Given the description of an element on the screen output the (x, y) to click on. 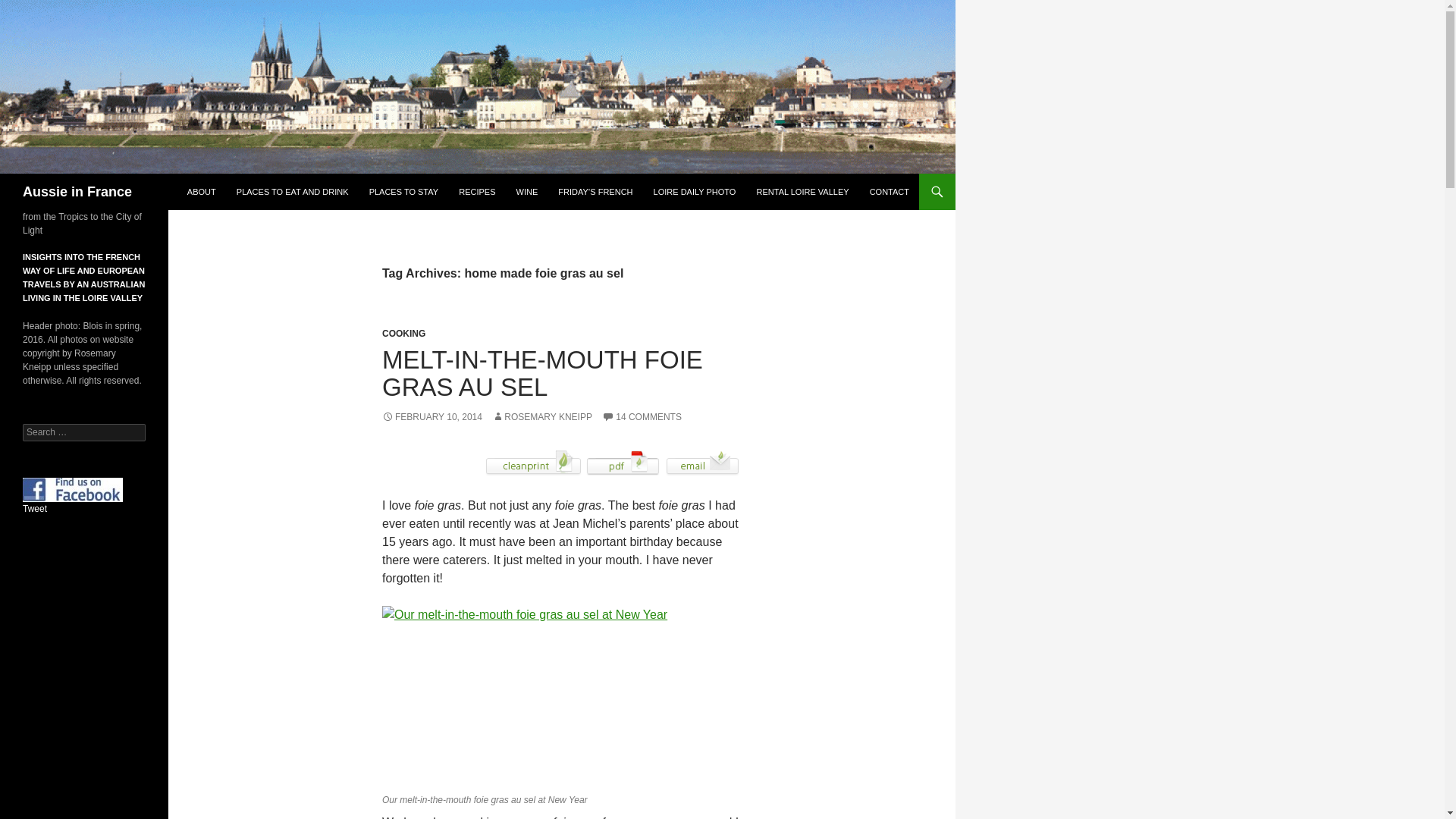
RECIPES (476, 191)
CONTACT (889, 191)
Aussie in France (77, 191)
14 COMMENTS (641, 416)
ABOUT (201, 191)
PLACES TO STAY (403, 191)
FEBRUARY 10, 2014 (431, 416)
RENTAL LOIRE VALLEY (803, 191)
COOKING (403, 333)
